Given the description of an element on the screen output the (x, y) to click on. 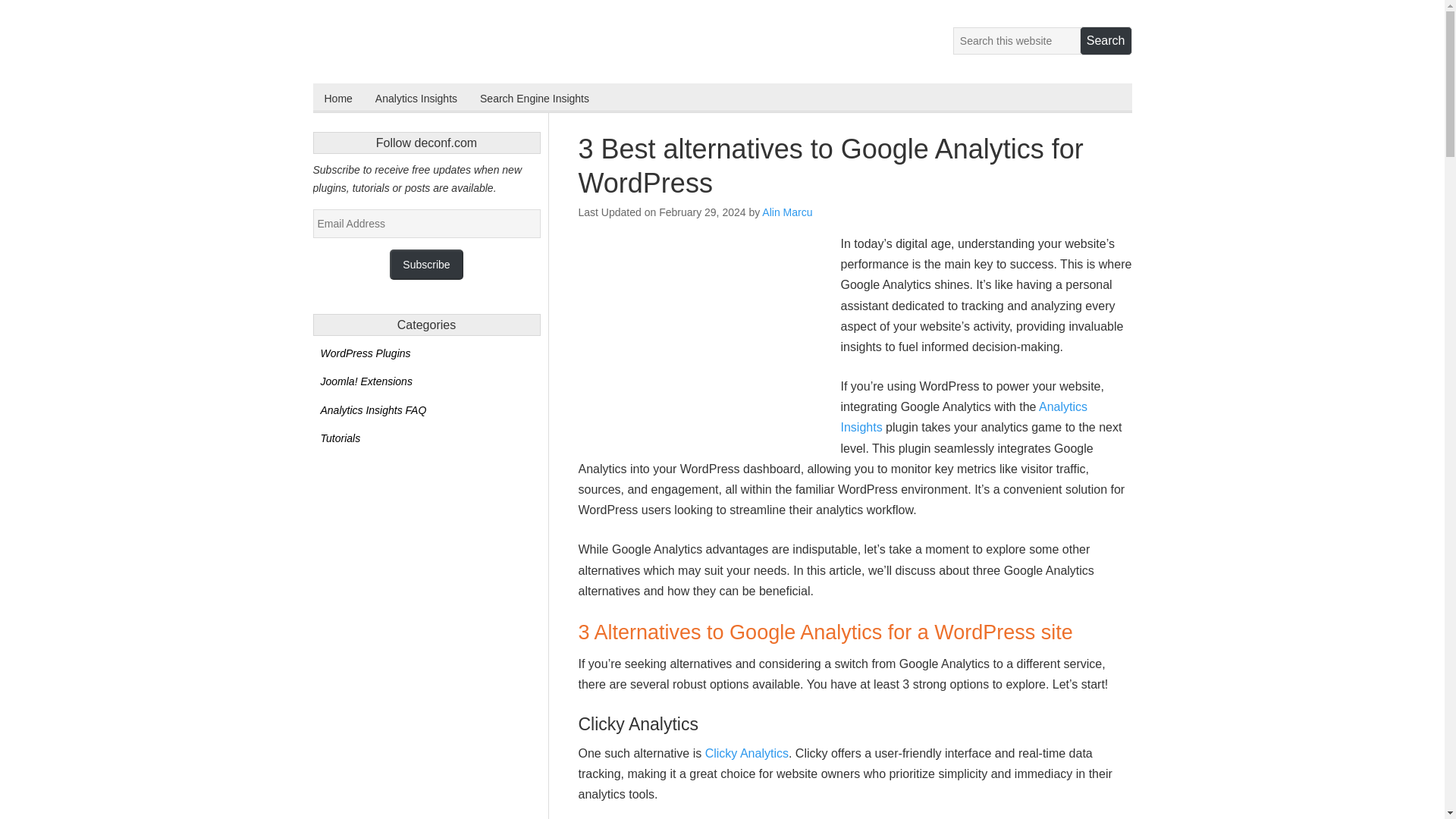
deconf.com (381, 42)
Joomla! Extensions (366, 381)
WordPress Plugins (365, 353)
Clicky Analytics (746, 753)
Search (1106, 40)
Alin Marcu (786, 212)
Analytics Insights FAQ (373, 410)
WordPress Plugins (365, 353)
Search Engine Insights (533, 96)
Joomla! Extensions (366, 381)
